Given the description of an element on the screen output the (x, y) to click on. 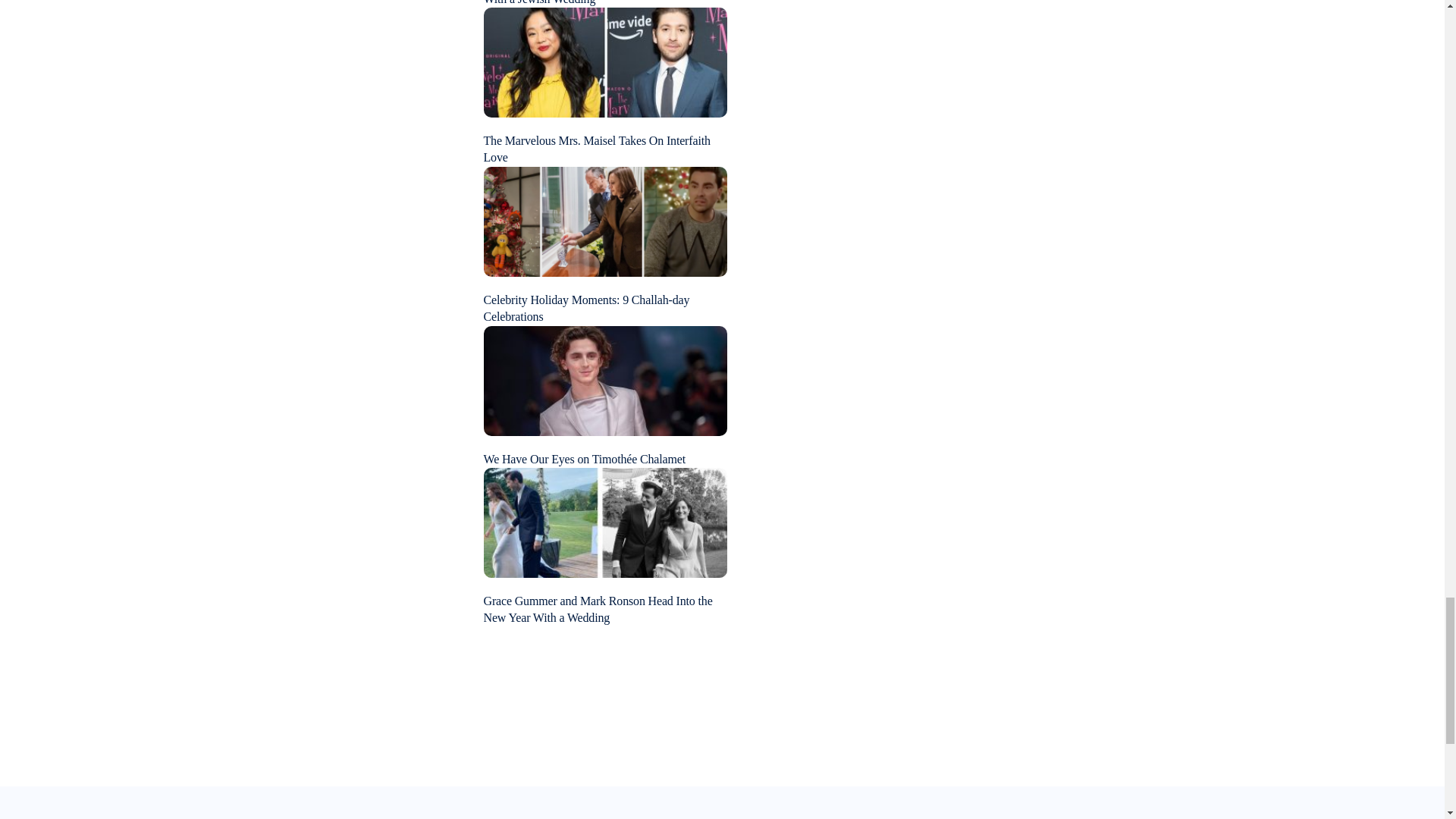
Celebrity Holiday Moments: 9 Challah-day Celebrations (586, 307)
Celebrity Holiday Moments: 9 Challah-day Celebrations (605, 219)
